Given the description of an element on the screen output the (x, y) to click on. 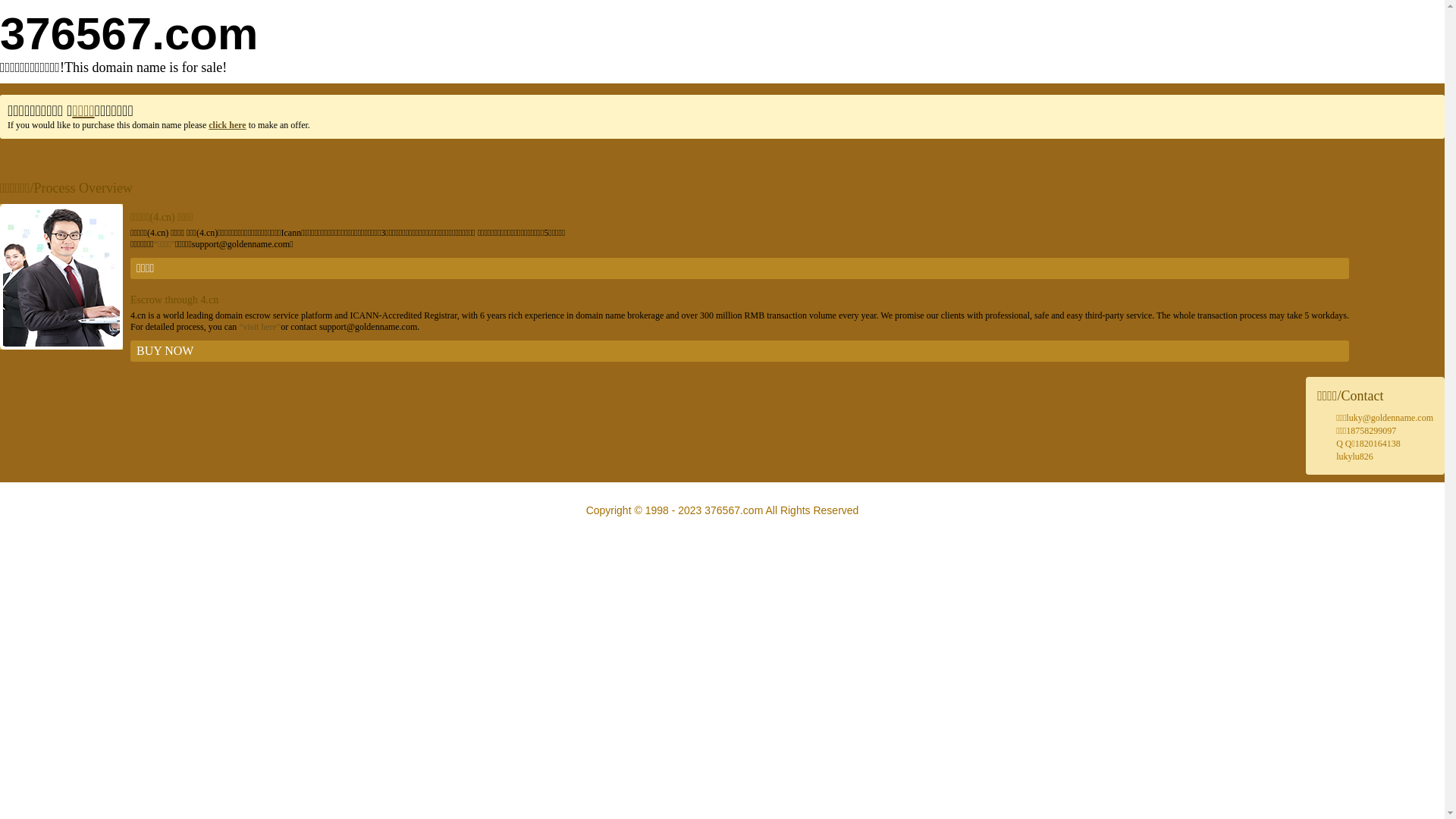
click here Element type: text (226, 124)
BUY NOW Element type: text (739, 350)
